Given the description of an element on the screen output the (x, y) to click on. 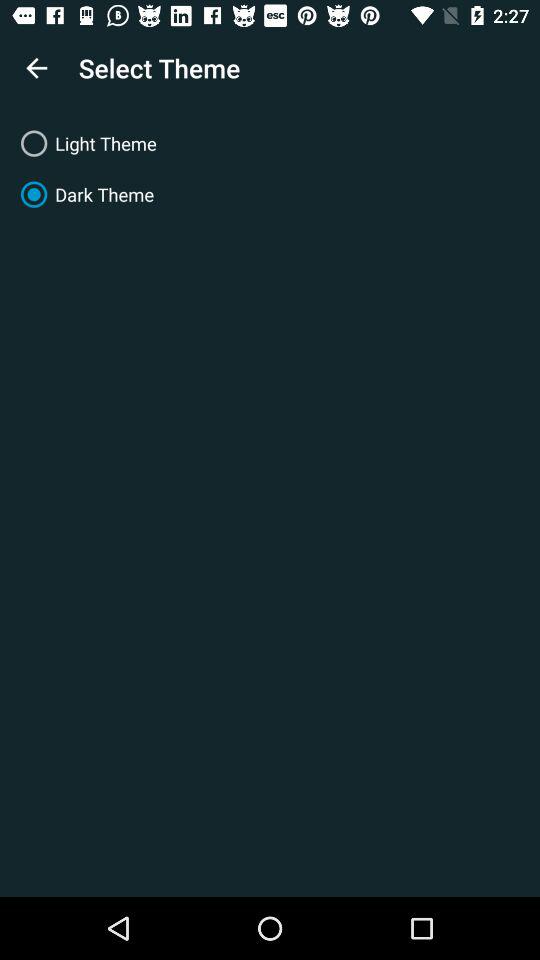
tap item above light theme (36, 68)
